Given the description of an element on the screen output the (x, y) to click on. 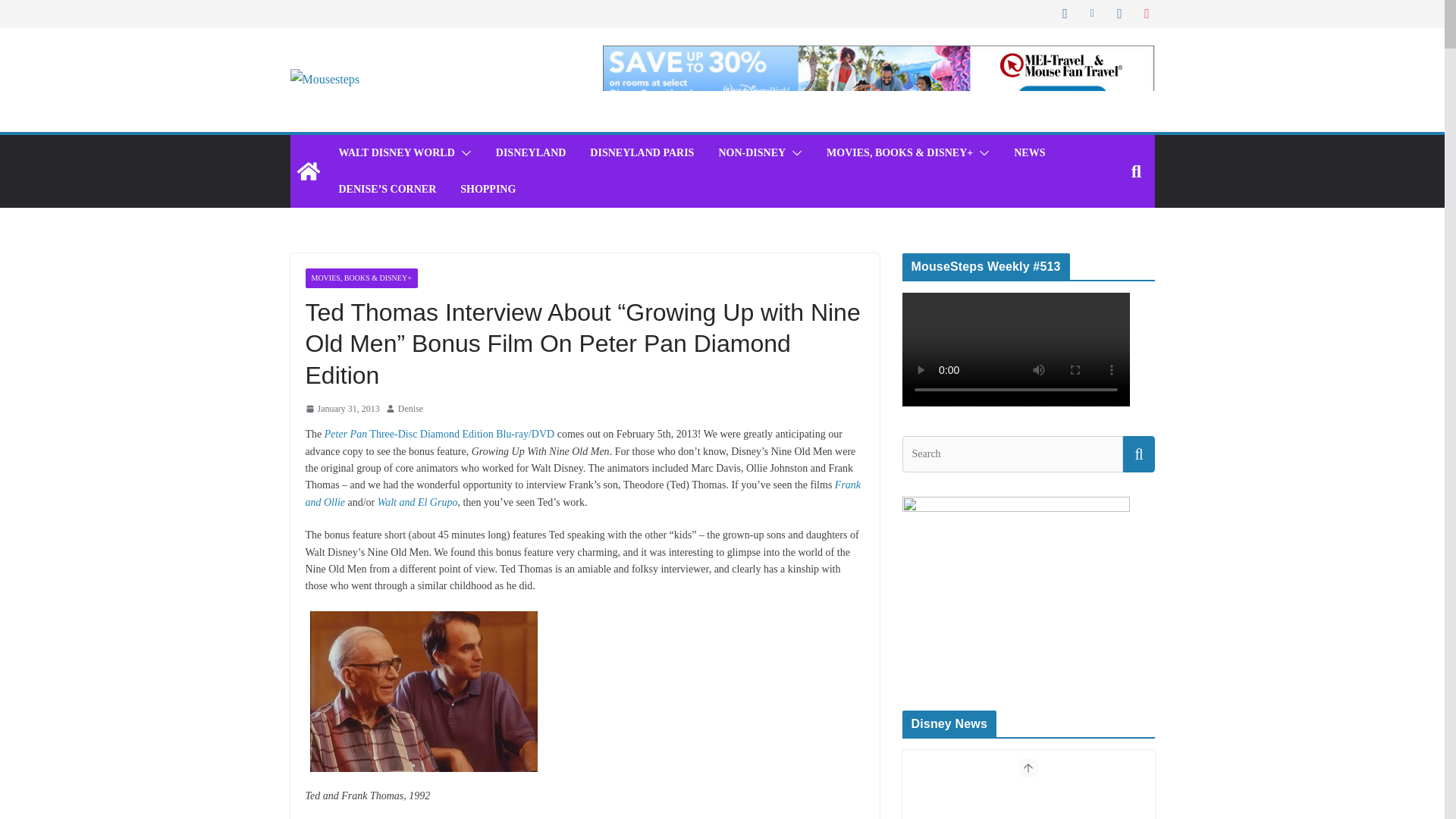
Denise (410, 409)
WALT DISNEY WORLD (395, 152)
3:23 pm (341, 409)
Mousesteps (307, 171)
Image (422, 691)
